Given the description of an element on the screen output the (x, y) to click on. 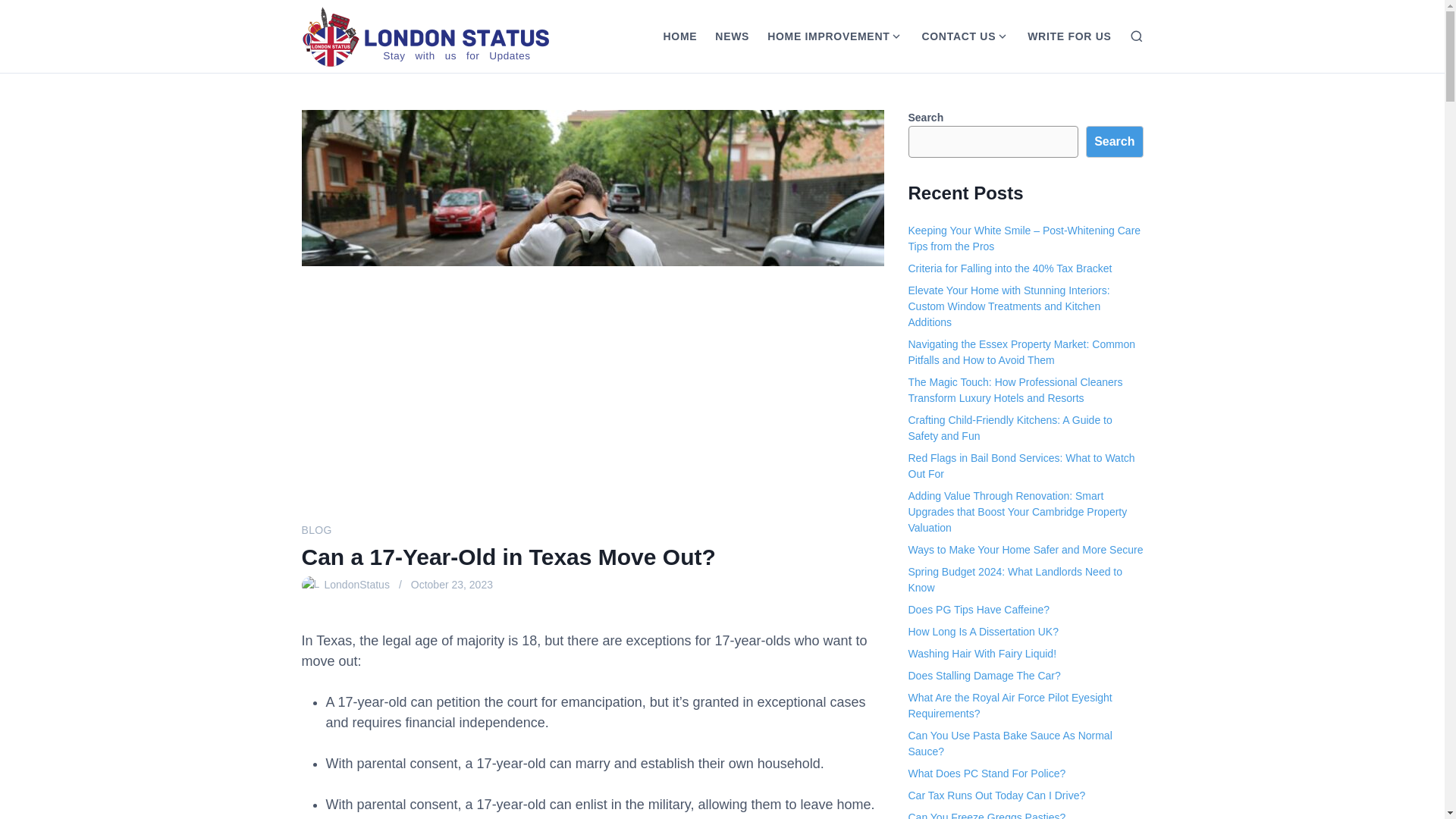
LondonStatus (357, 584)
WRITE FOR US (1068, 36)
HOME (679, 36)
NEWS (732, 36)
CONTACT US (953, 36)
BLOG (316, 530)
HOME IMPROVEMENT (823, 36)
